Given the description of an element on the screen output the (x, y) to click on. 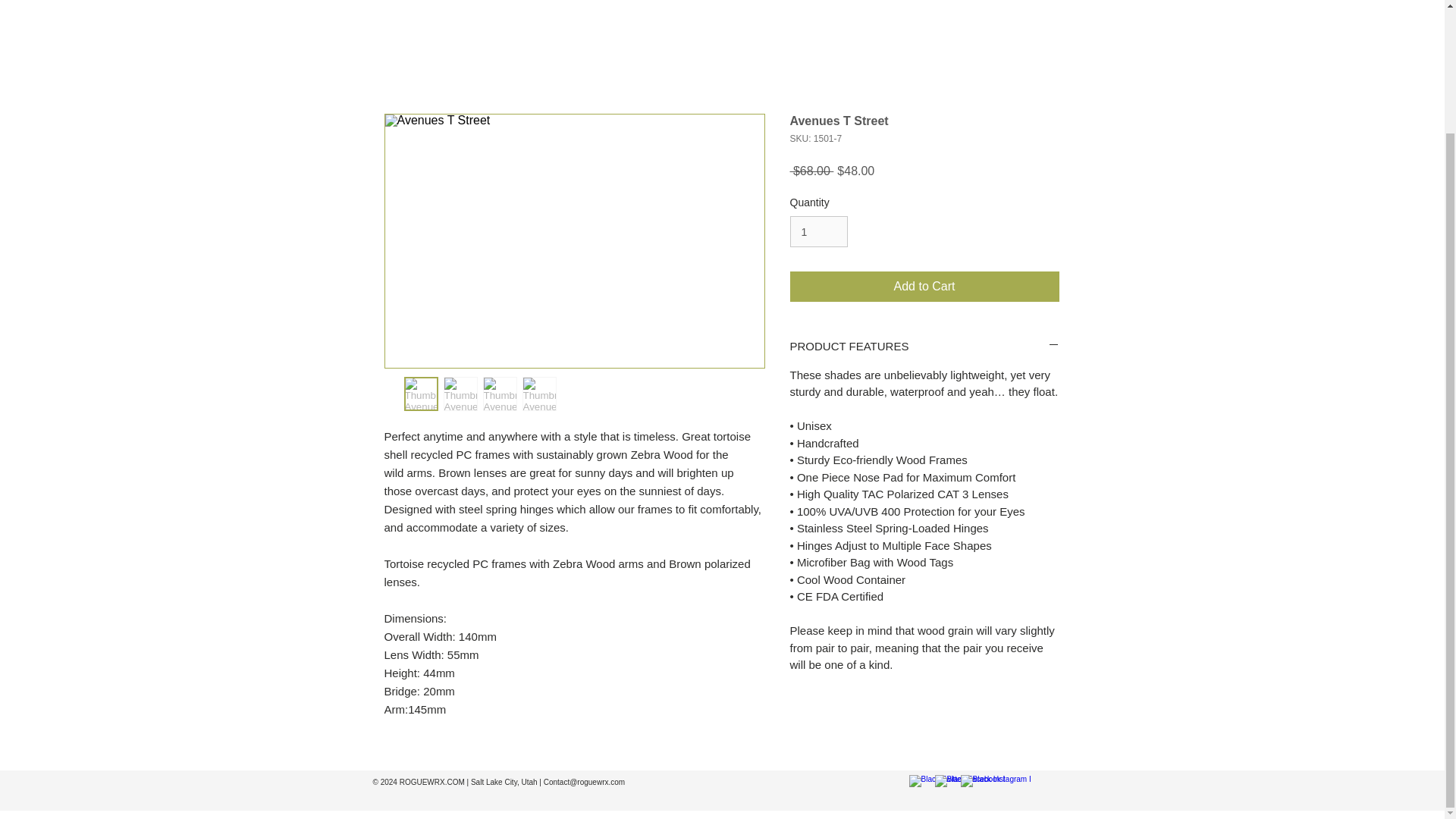
PRODUCT FEATURES (924, 345)
Add to Cart (924, 286)
1 (818, 231)
